Given the description of an element on the screen output the (x, y) to click on. 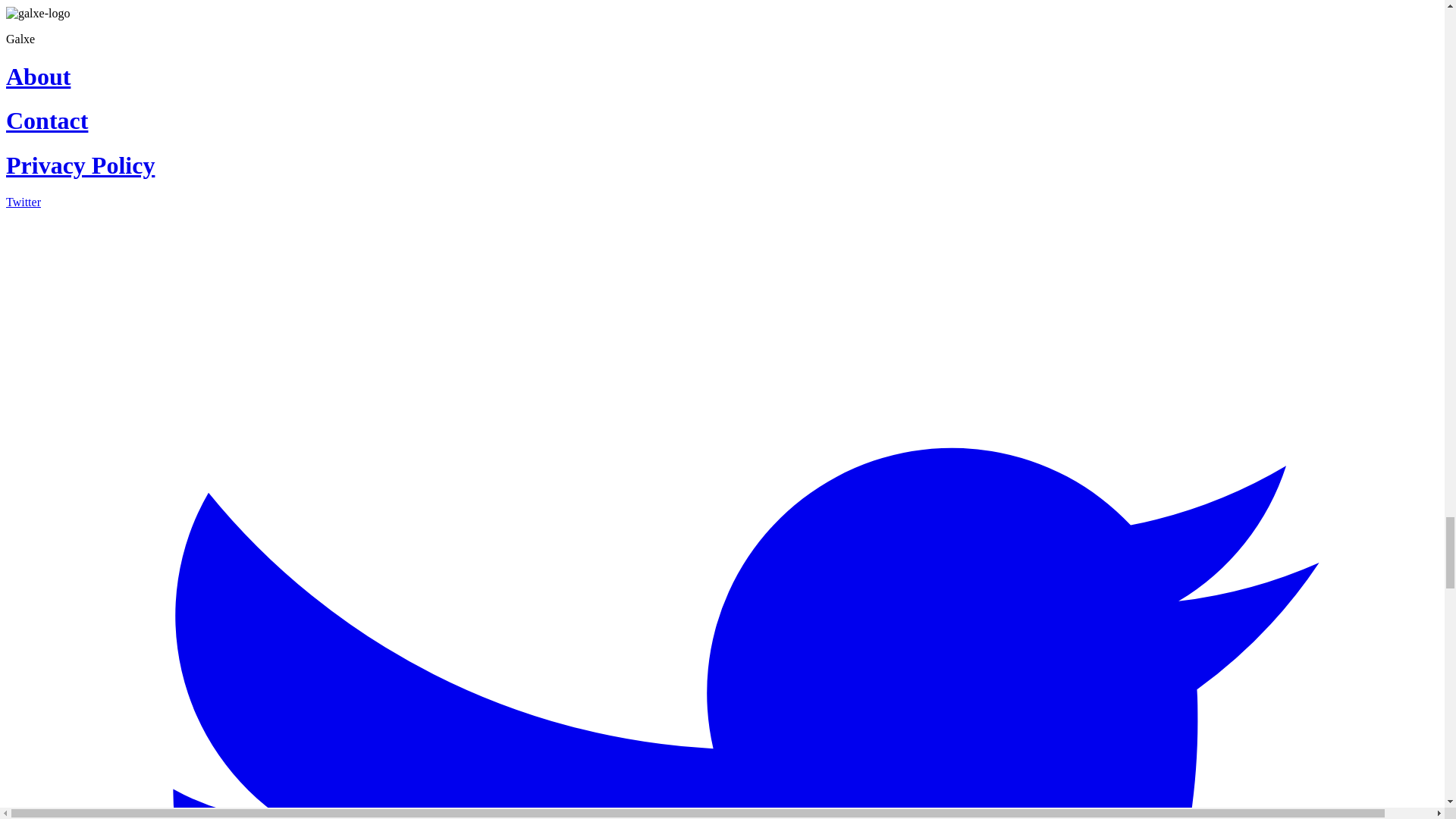
Privacy Policy (721, 165)
Contact (721, 121)
About (721, 76)
